Given the description of an element on the screen output the (x, y) to click on. 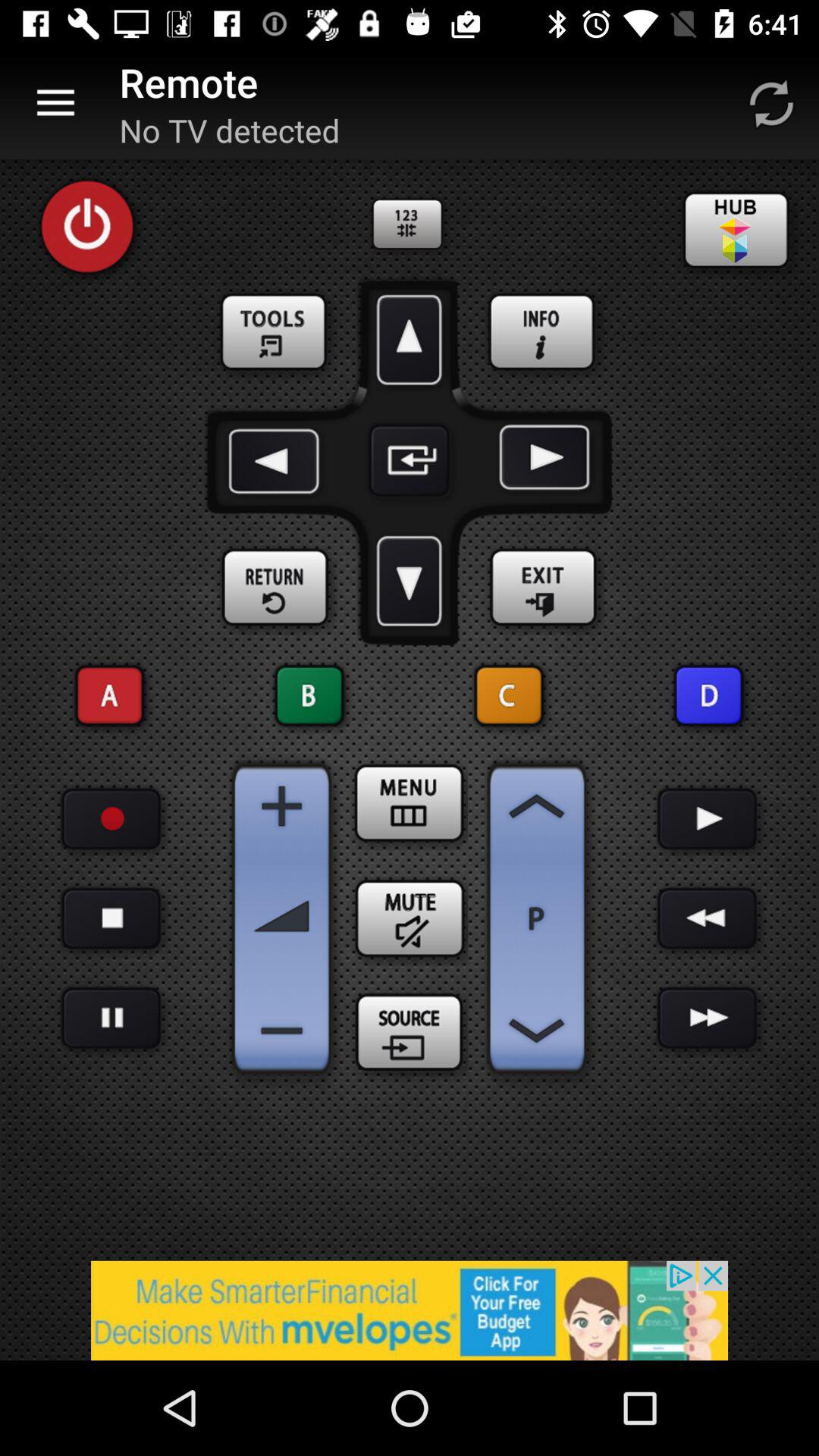
go to valum (281, 806)
